Given the description of an element on the screen output the (x, y) to click on. 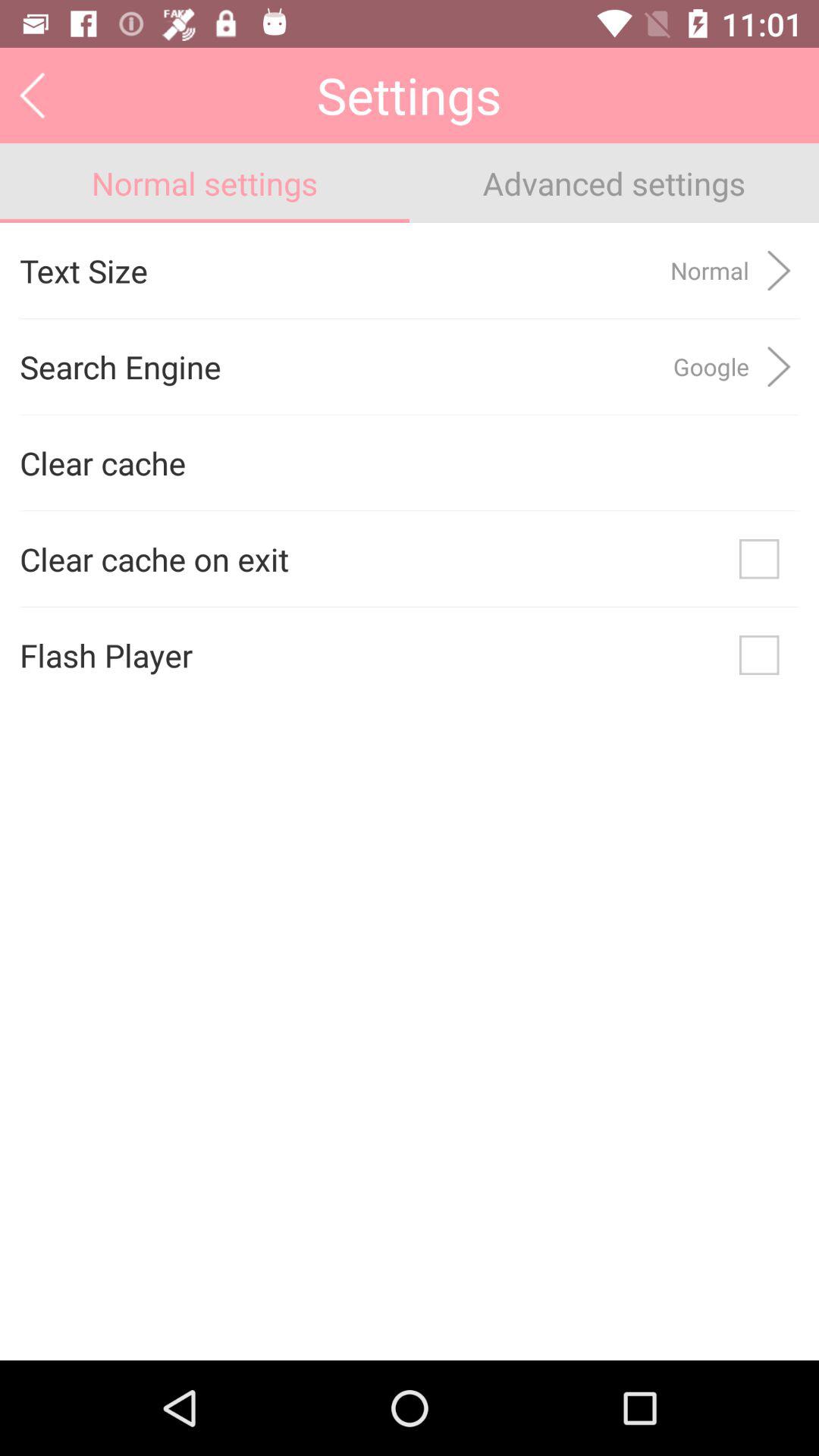
select the icon to the right of the flash player app (759, 655)
